Given the description of an element on the screen output the (x, y) to click on. 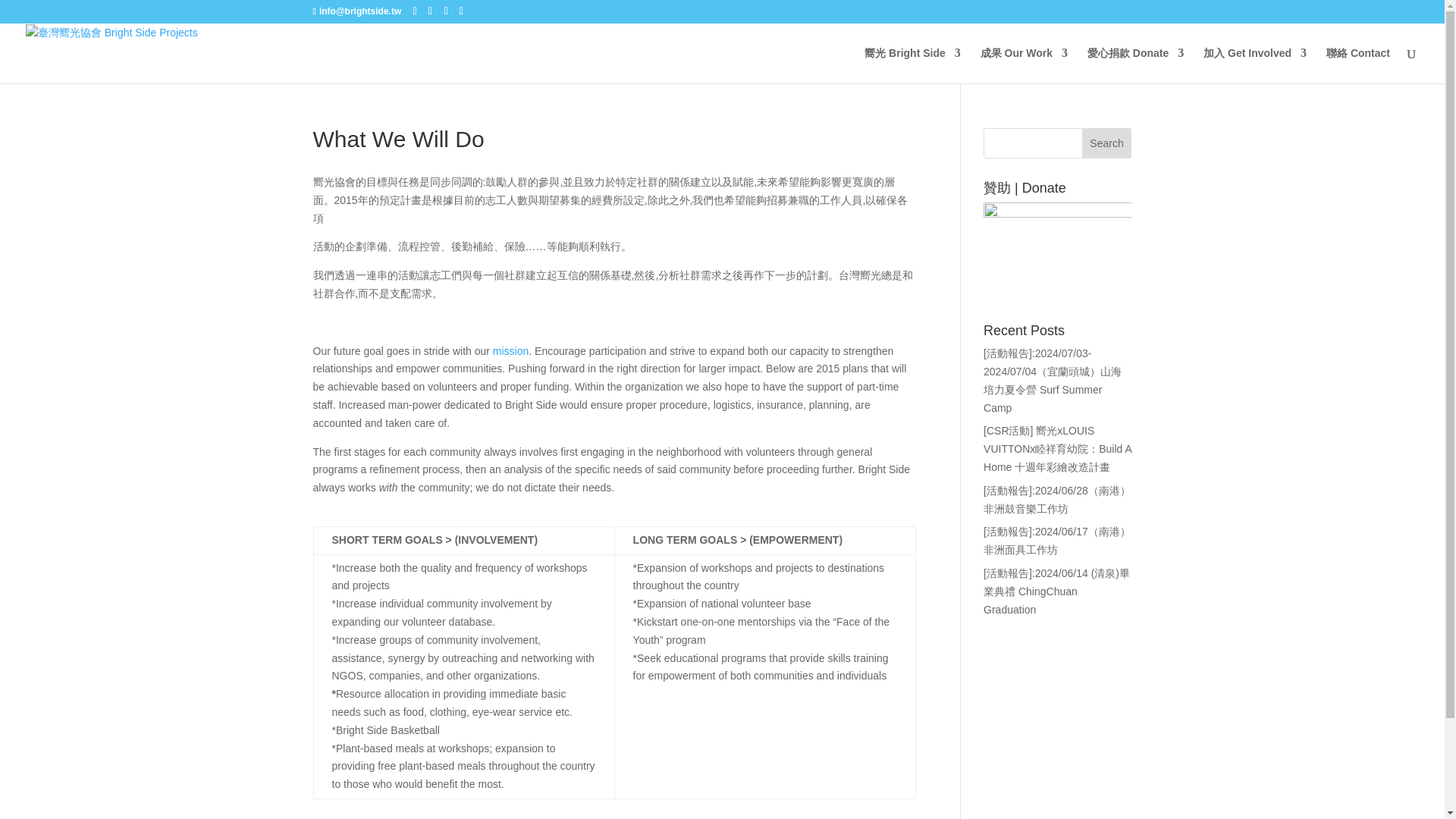
Search (1106, 142)
Search (1106, 142)
mission (510, 350)
